Given the description of an element on the screen output the (x, y) to click on. 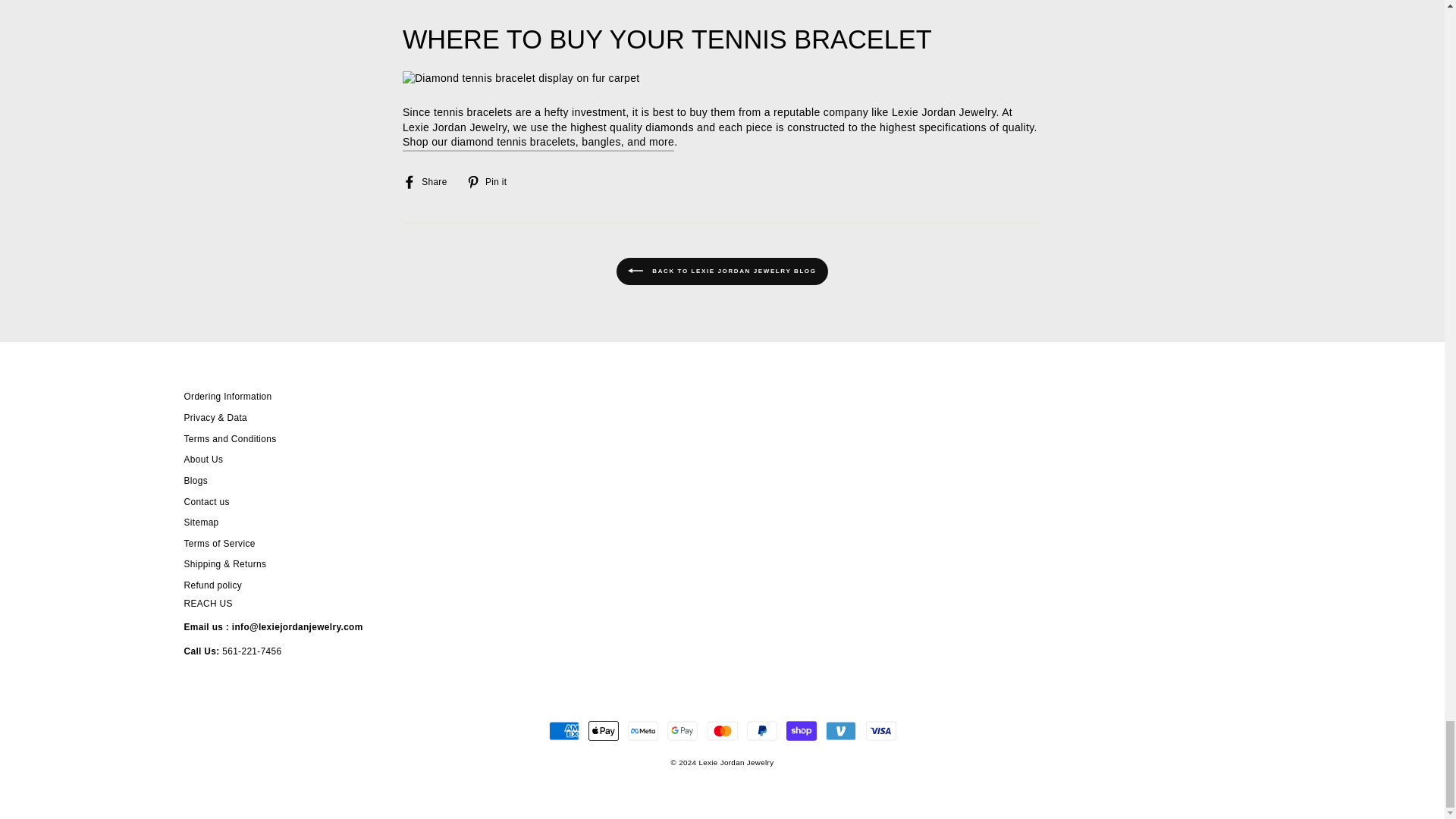
Meta Pay (642, 730)
American Express (563, 730)
Share on Facebook (430, 181)
PayPal (761, 730)
Venmo (840, 730)
Contact Us (296, 626)
Shop our diamond tennis bracelets, bangles, and more (538, 143)
Shop Pay (801, 730)
Visa (881, 730)
Google Pay (681, 730)
